Given the description of an element on the screen output the (x, y) to click on. 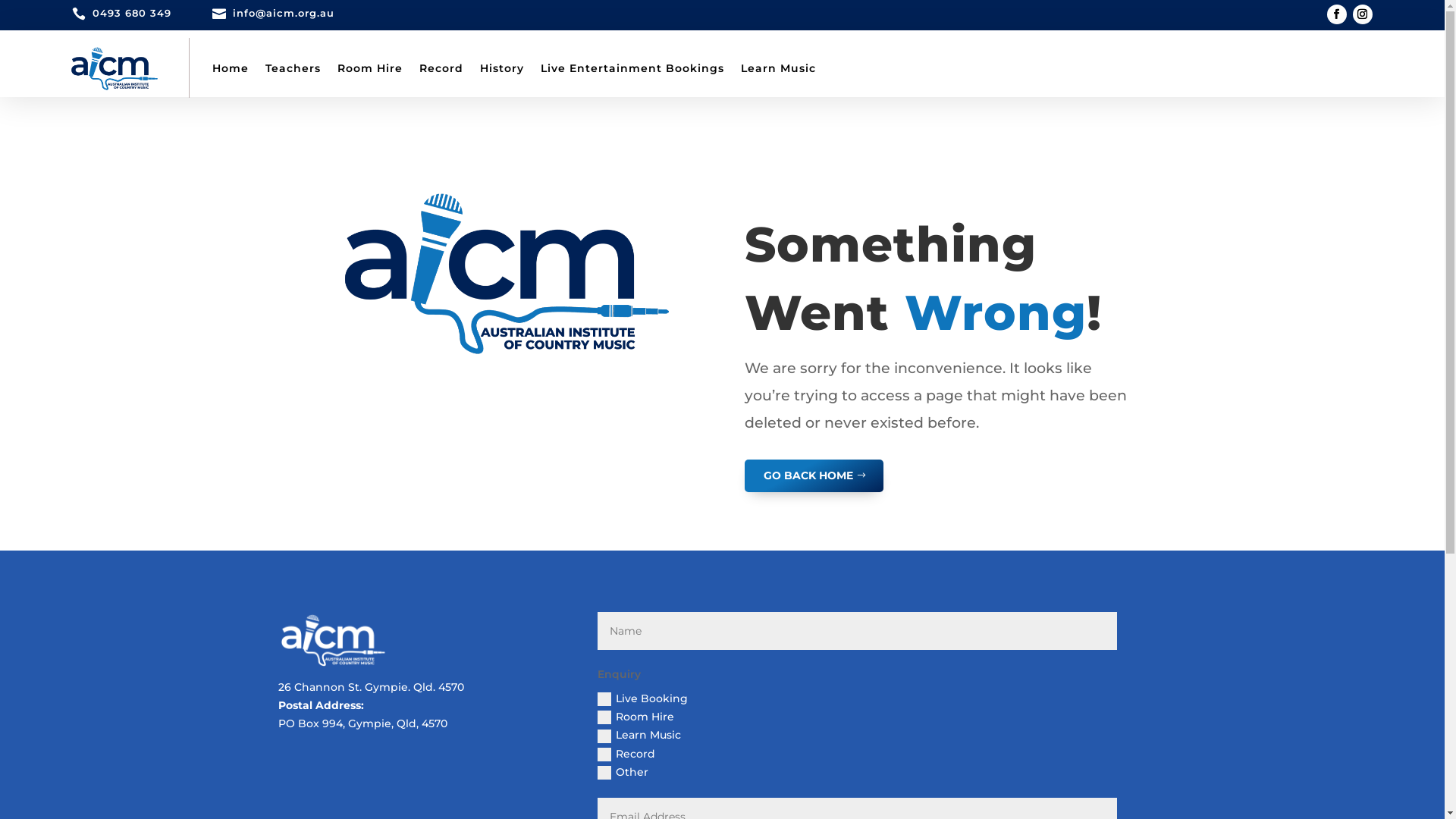
0493 680 349 Element type: text (131, 12)
Room Hire Element type: text (368, 67)
Follow on Instagram Element type: hover (1362, 14)
History Element type: text (501, 67)
aicm-logo-1000 Element type: hover (505, 270)
Home Element type: text (230, 67)
Learn Music Element type: text (777, 67)
GO BACK HOME Element type: text (813, 475)
Record Element type: text (440, 67)
Follow on Facebook Element type: hover (1336, 14)
Live Entertainment Bookings Element type: text (631, 67)
aicm Element type: hover (332, 639)
Teachers Element type: text (292, 67)
